Given the description of an element on the screen output the (x, y) to click on. 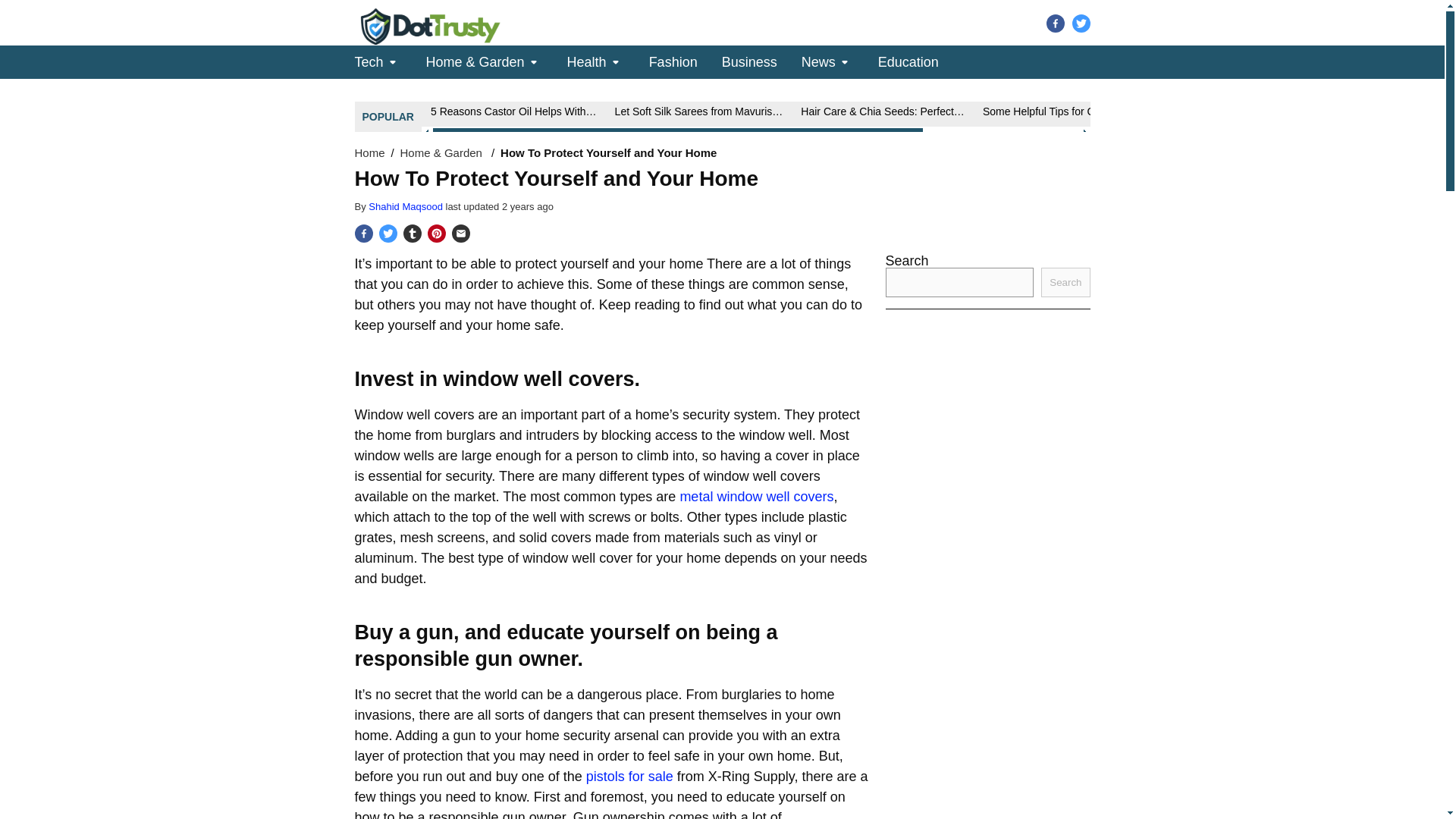
Health (587, 61)
metal window well covers (755, 496)
Shahid Maqsood (406, 206)
Business (749, 61)
Education (908, 61)
Fashion (673, 61)
pistols for sale (629, 776)
Tech (369, 61)
Home (370, 152)
News (818, 61)
